Given the description of an element on the screen output the (x, y) to click on. 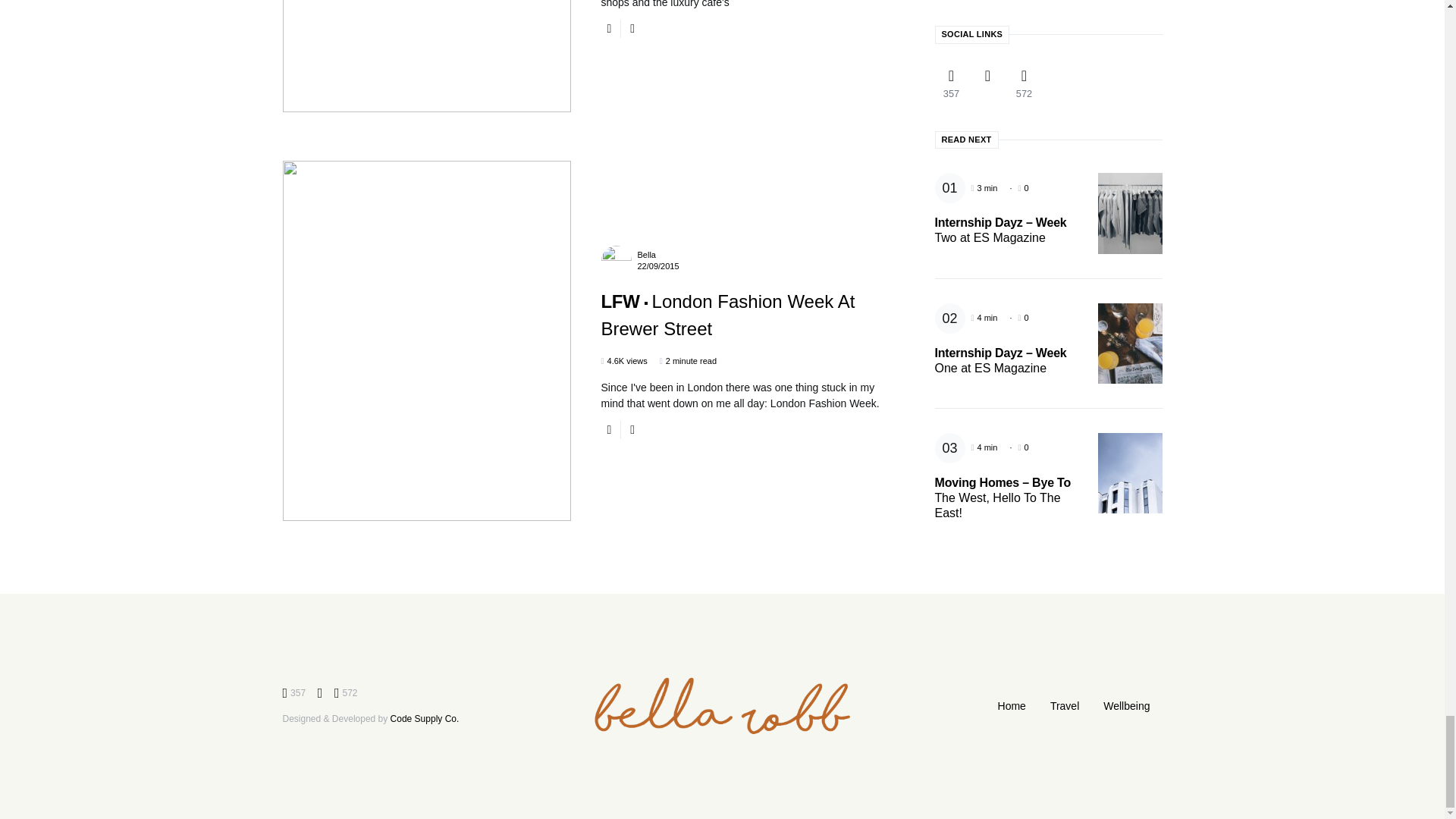
London Fashion Week At Brewer Street (726, 315)
